Given the description of an element on the screen output the (x, y) to click on. 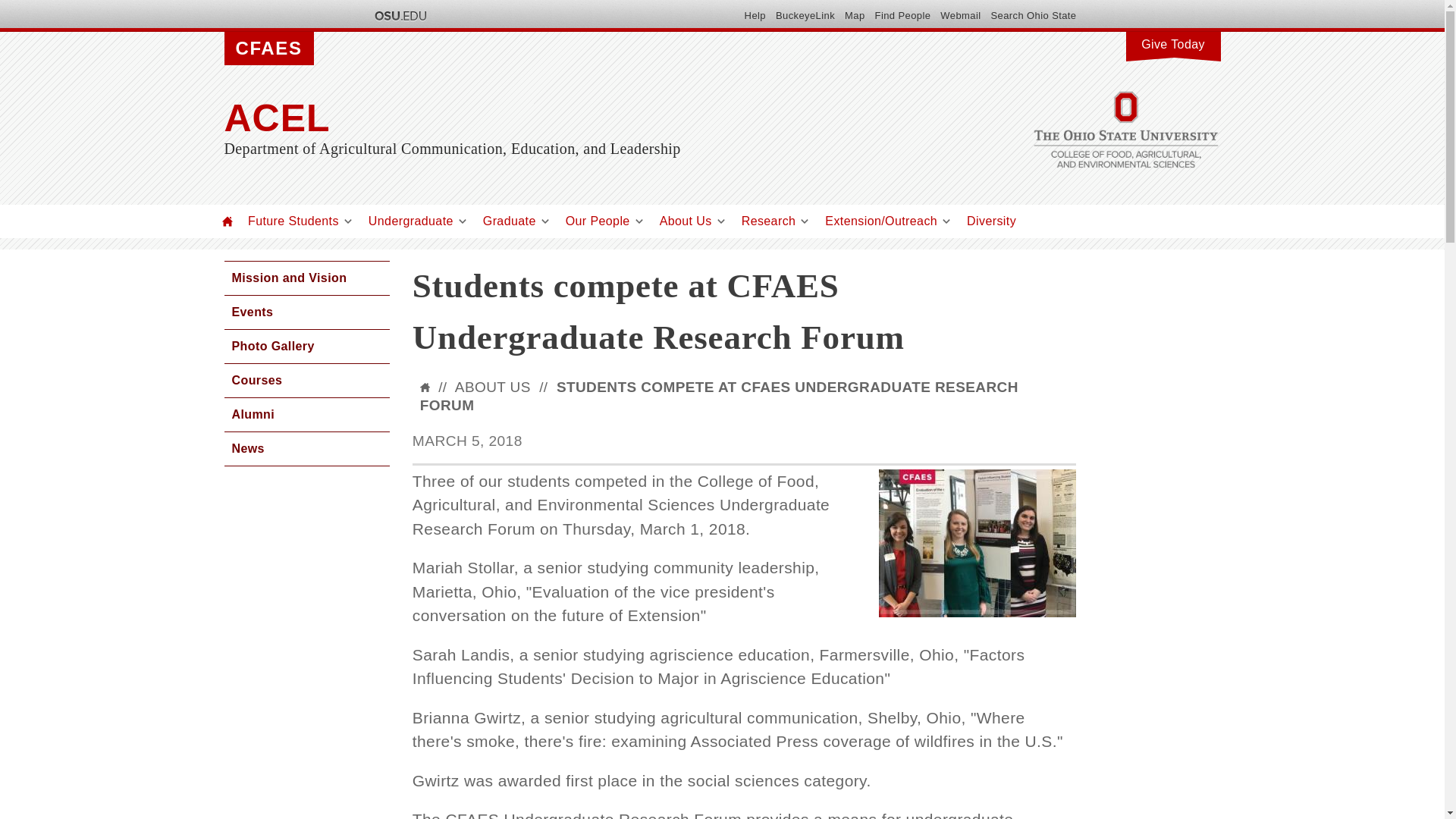
Find People (903, 15)
The Ohio State University (399, 15)
CFAES (269, 48)
Give Today (1172, 42)
Home (226, 221)
Map (854, 15)
Graduate (509, 221)
Undergraduate (410, 221)
ACEL (572, 118)
Help (754, 15)
Search Ohio State (1032, 15)
BuckeyeLink (805, 15)
Home (572, 118)
Webmail (959, 15)
Skip to main content (686, 1)
